Given the description of an element on the screen output the (x, y) to click on. 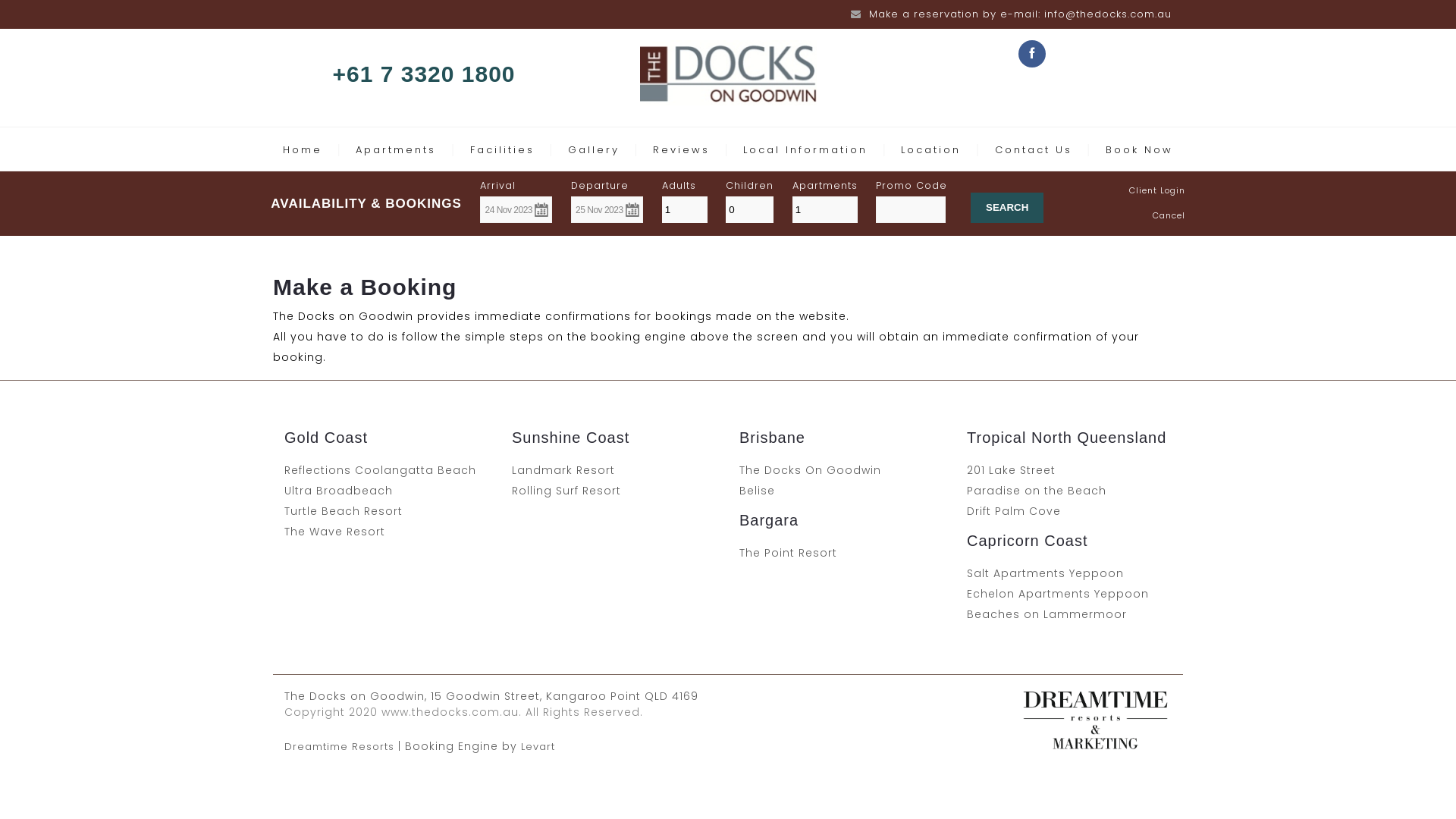
Rolling Surf Resort Element type: text (566, 490)
SEARCH Element type: text (1006, 207)
Client Login Element type: text (1157, 190)
Gallery Element type: text (593, 149)
Paradise on the Beach Element type: text (1036, 490)
Cancel Element type: text (1168, 215)
Levart Element type: text (537, 746)
Apartments Element type: text (395, 149)
Facilities Element type: text (502, 149)
Drift Palm Cove Element type: text (1013, 510)
The Docks On Goodwin Element type: text (810, 469)
Make a reservation by e-mail: info@thedocks.com.au Element type: text (1020, 13)
Reviews Element type: text (680, 149)
The Point Resort Element type: text (788, 552)
Ultra Broadbeach Element type: text (338, 490)
Belise Element type: text (757, 490)
Landmark Resort Element type: text (563, 469)
Dreamtime Resorts Element type: text (339, 746)
Home Element type: text (302, 149)
Local Information Element type: text (805, 149)
201 Lake Street Element type: text (1010, 469)
Salt Apartments Yeppoon Element type: text (1044, 572)
Book Now Element type: text (1139, 149)
Location Element type: text (930, 149)
The Wave Resort Element type: text (334, 531)
Beaches on Lammermoor Element type: text (1046, 613)
Turtle Beach Resort Element type: text (343, 510)
Reflections Coolangatta Beach Element type: text (380, 469)
Echelon Apartments Yeppoon Element type: text (1057, 593)
Contact Us Element type: text (1033, 149)
